Given the description of an element on the screen output the (x, y) to click on. 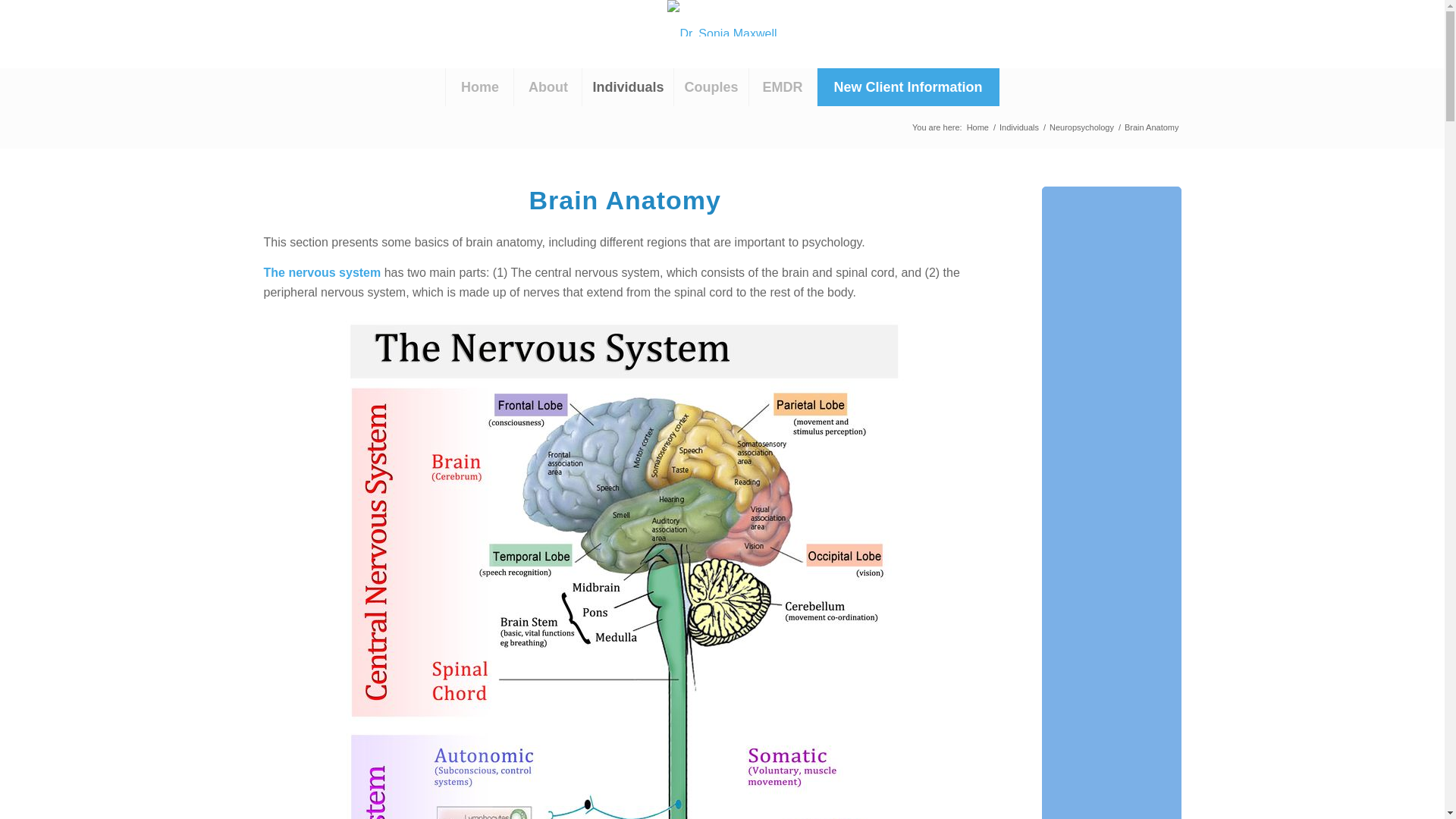
Home (479, 86)
About (546, 86)
Individuals (1019, 127)
Neuropsychology (1081, 127)
Dr. Sonia Maxwell (977, 127)
Couples (710, 86)
EMDR (781, 86)
Individuals (626, 86)
